Given the description of an element on the screen output the (x, y) to click on. 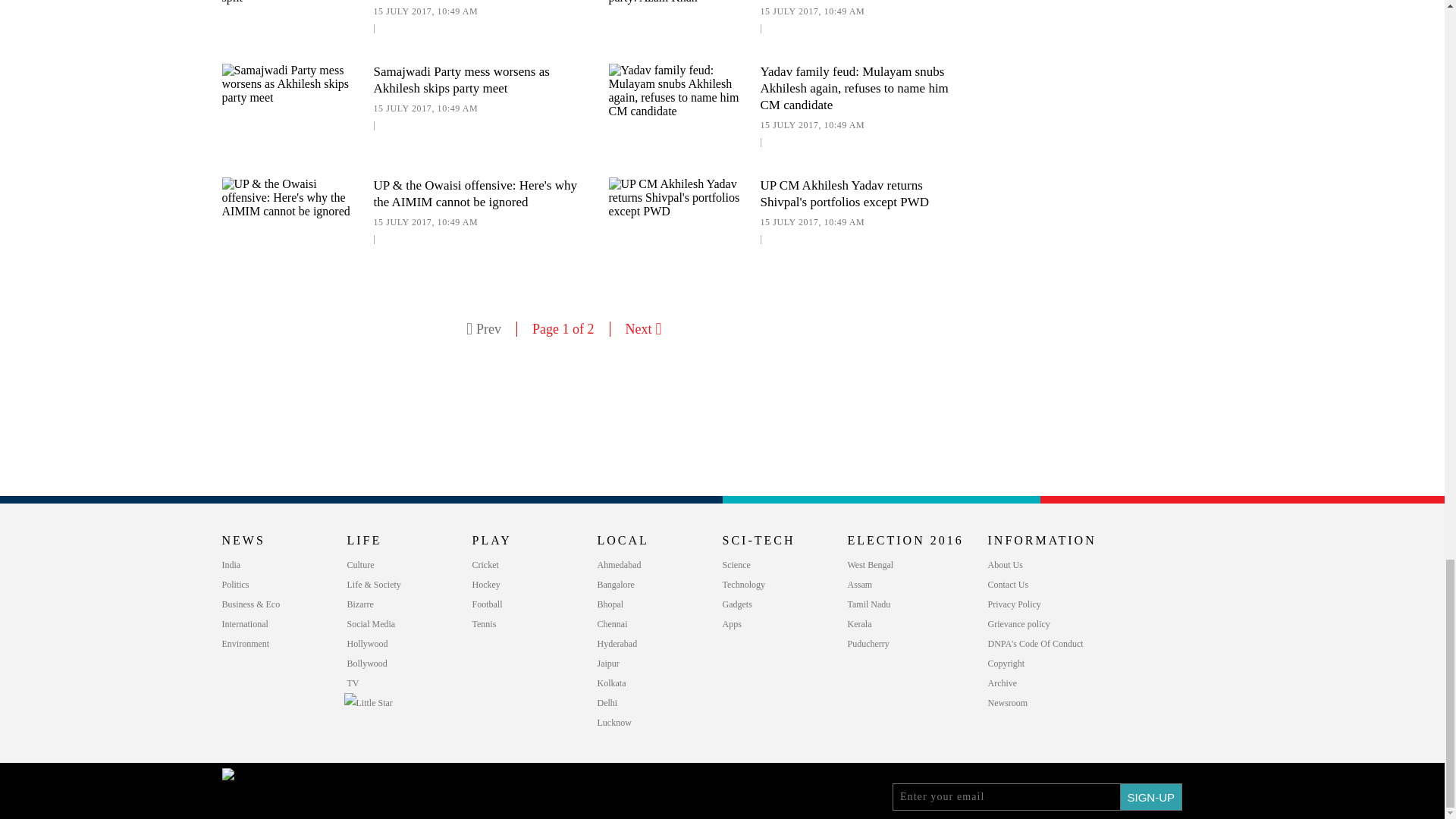
SIGN-UP (1150, 796)
